Given the description of an element on the screen output the (x, y) to click on. 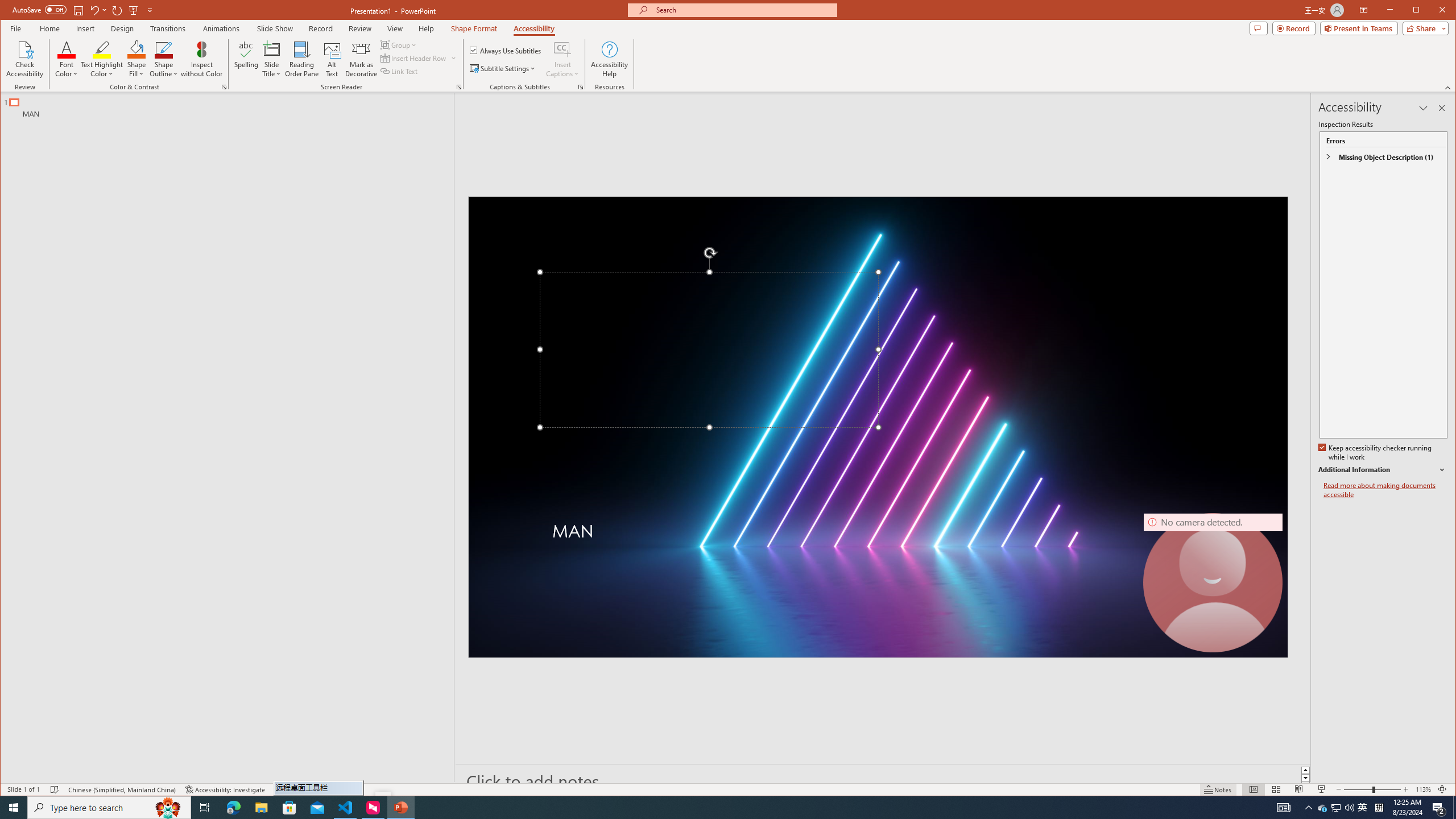
Color & Contrast (223, 86)
Always Use Subtitles (505, 49)
